Given the description of an element on the screen output the (x, y) to click on. 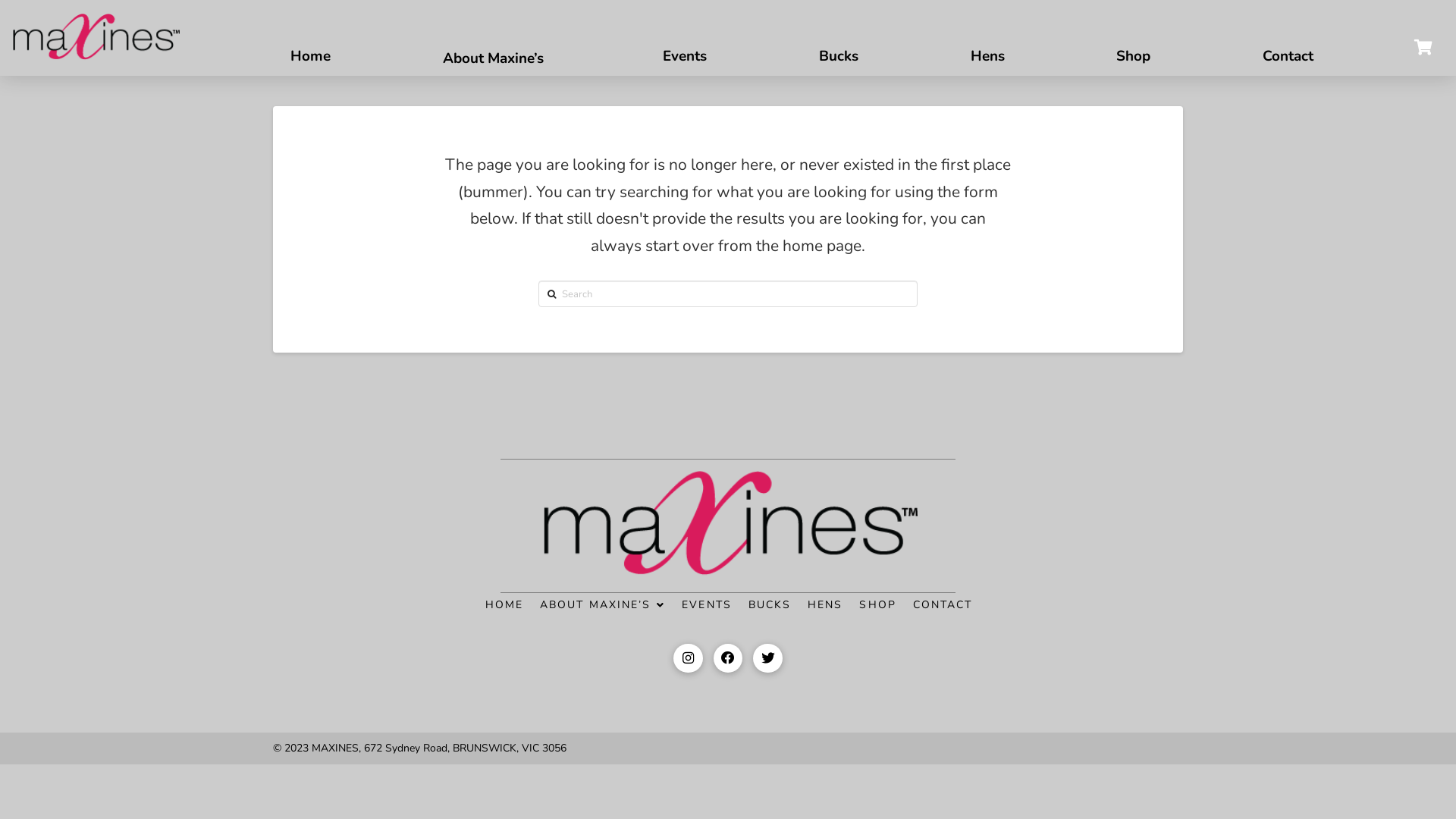
CONTACT Element type: text (941, 603)
Bucks Element type: text (837, 48)
Home Element type: text (310, 48)
SHOP Element type: text (876, 603)
Shop Element type: text (1133, 48)
BUCKS Element type: text (768, 603)
HENS Element type: text (824, 603)
Events Element type: text (684, 48)
HOME Element type: text (503, 603)
Contact Element type: text (1287, 48)
EVENTS Element type: text (705, 603)
Hens Element type: text (987, 48)
